Given the description of an element on the screen output the (x, y) to click on. 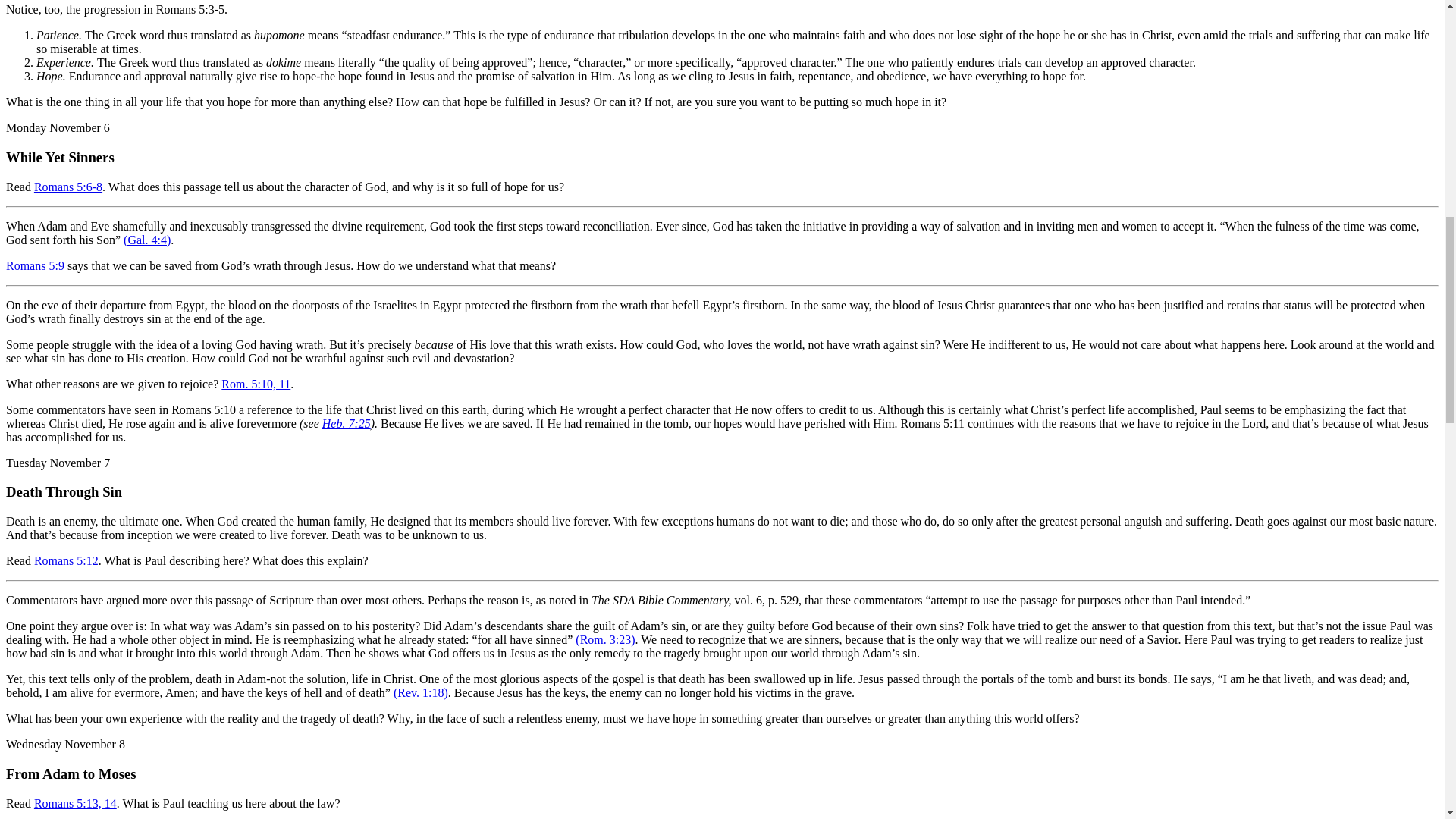
Rom. 5:10, 11 (255, 383)
Romans 5:13, 14 (74, 802)
Romans 5:12 (66, 560)
Heb. 7:25 (346, 422)
Romans 5:9 (34, 265)
Romans 5:6-8 (67, 186)
